Given the description of an element on the screen output the (x, y) to click on. 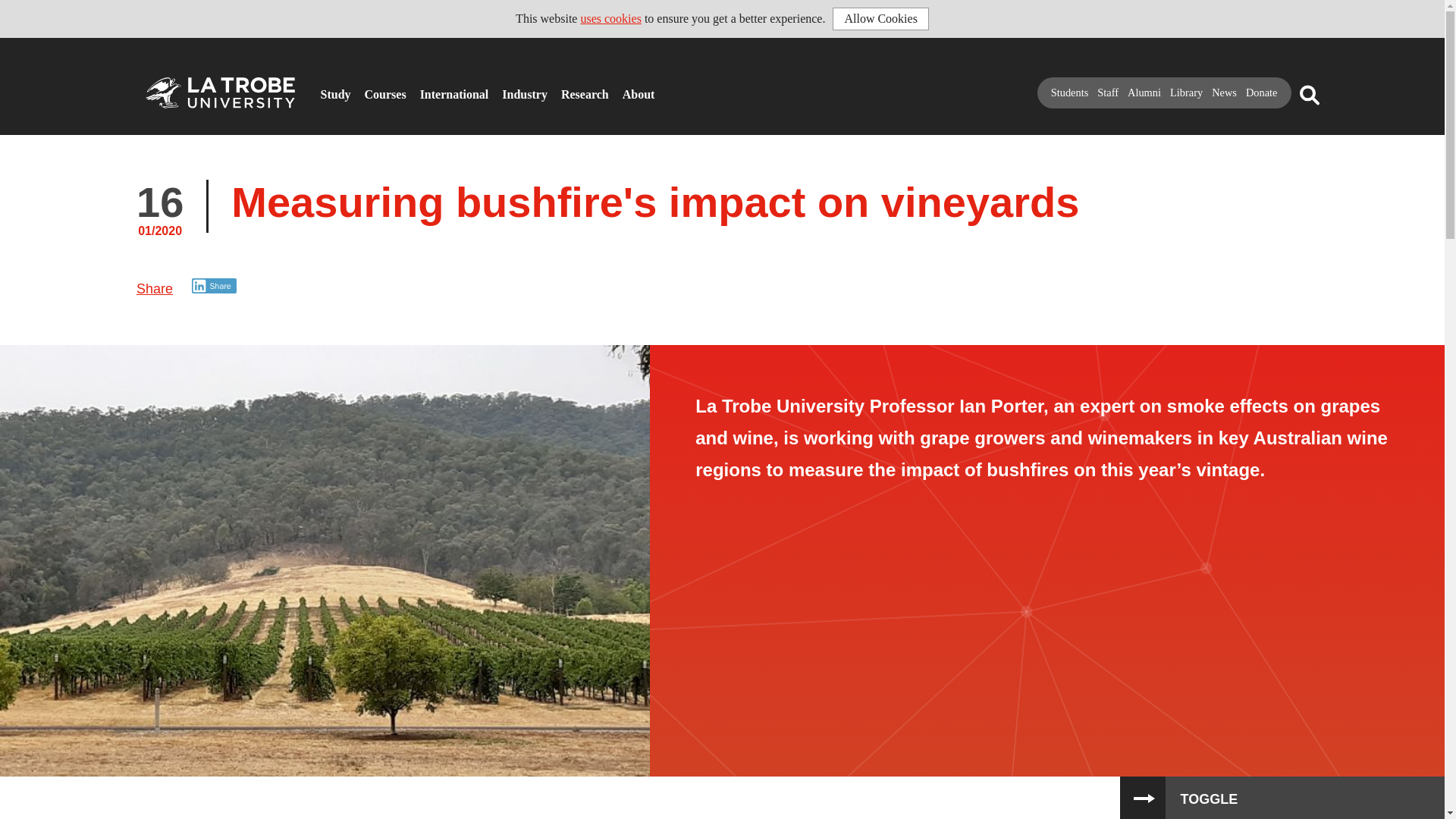
Courses (369, 88)
Courses (369, 88)
International students (424, 88)
Donate (1262, 92)
Study with us (325, 88)
Industry and Community (507, 88)
Research (565, 88)
Students (1070, 92)
About (627, 88)
About (627, 88)
Library (1186, 92)
News (1223, 92)
International students (424, 88)
uses cookies (609, 18)
Alumni (1143, 92)
